Given the description of an element on the screen output the (x, y) to click on. 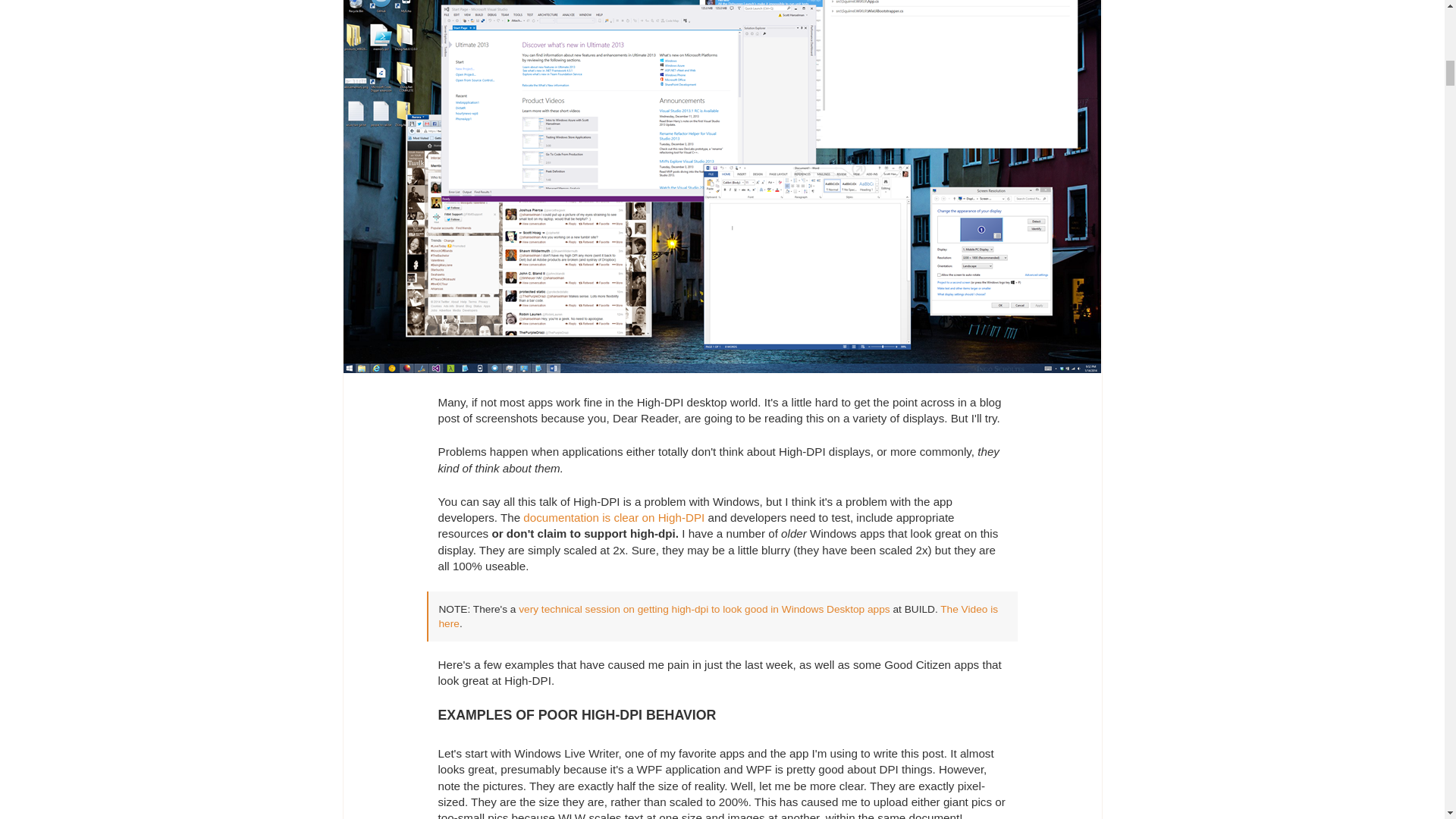
The Video is here (717, 616)
documentation is clear on High-DPI (613, 517)
